Given the description of an element on the screen output the (x, y) to click on. 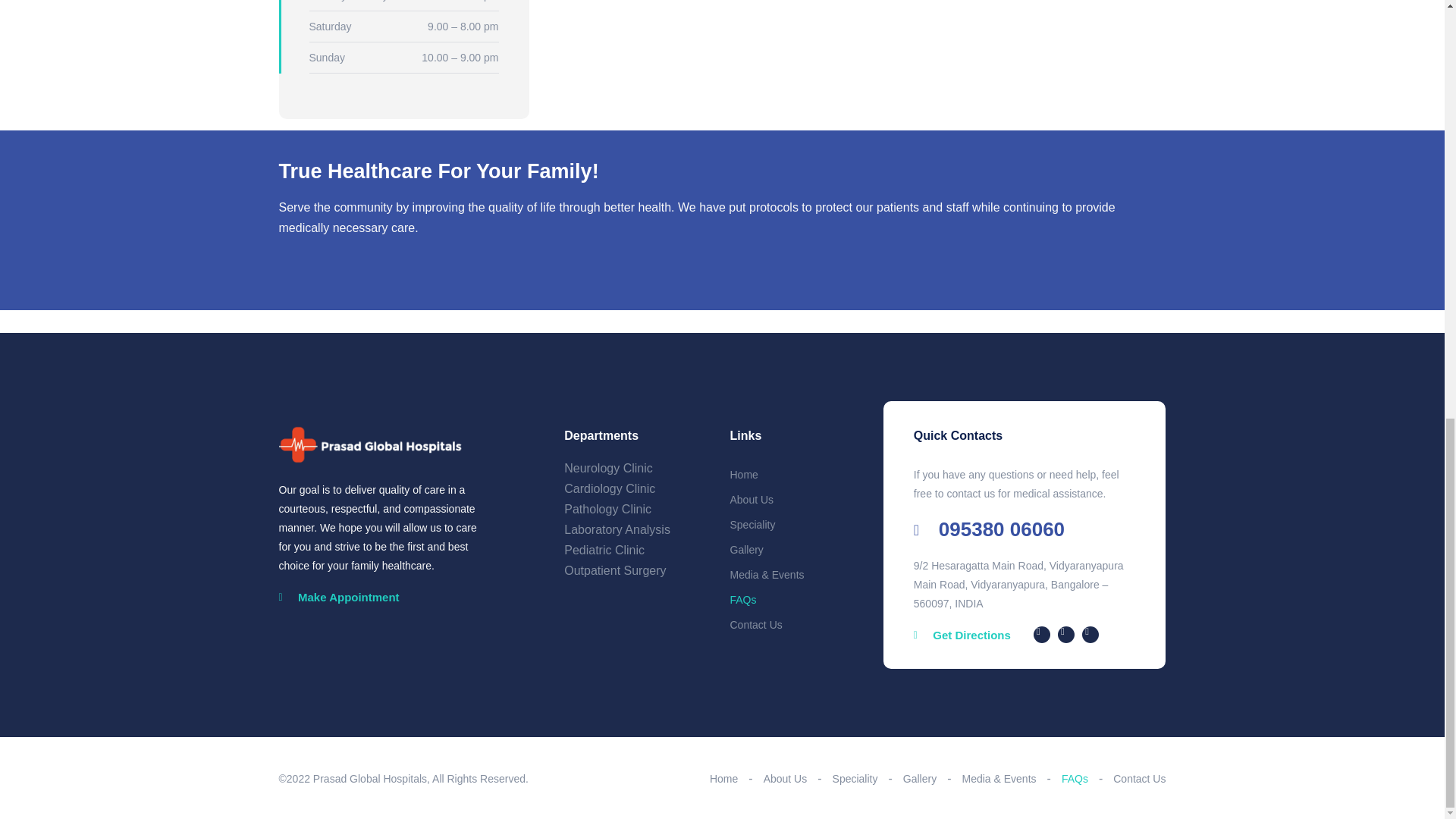
Home (723, 778)
Gallery (745, 549)
Speciality (855, 778)
About Us (785, 778)
Get Directions (962, 634)
Home (743, 474)
About Us (751, 499)
Speciality (751, 524)
FAQs (742, 599)
Contact Us (755, 624)
